Given the description of an element on the screen output the (x, y) to click on. 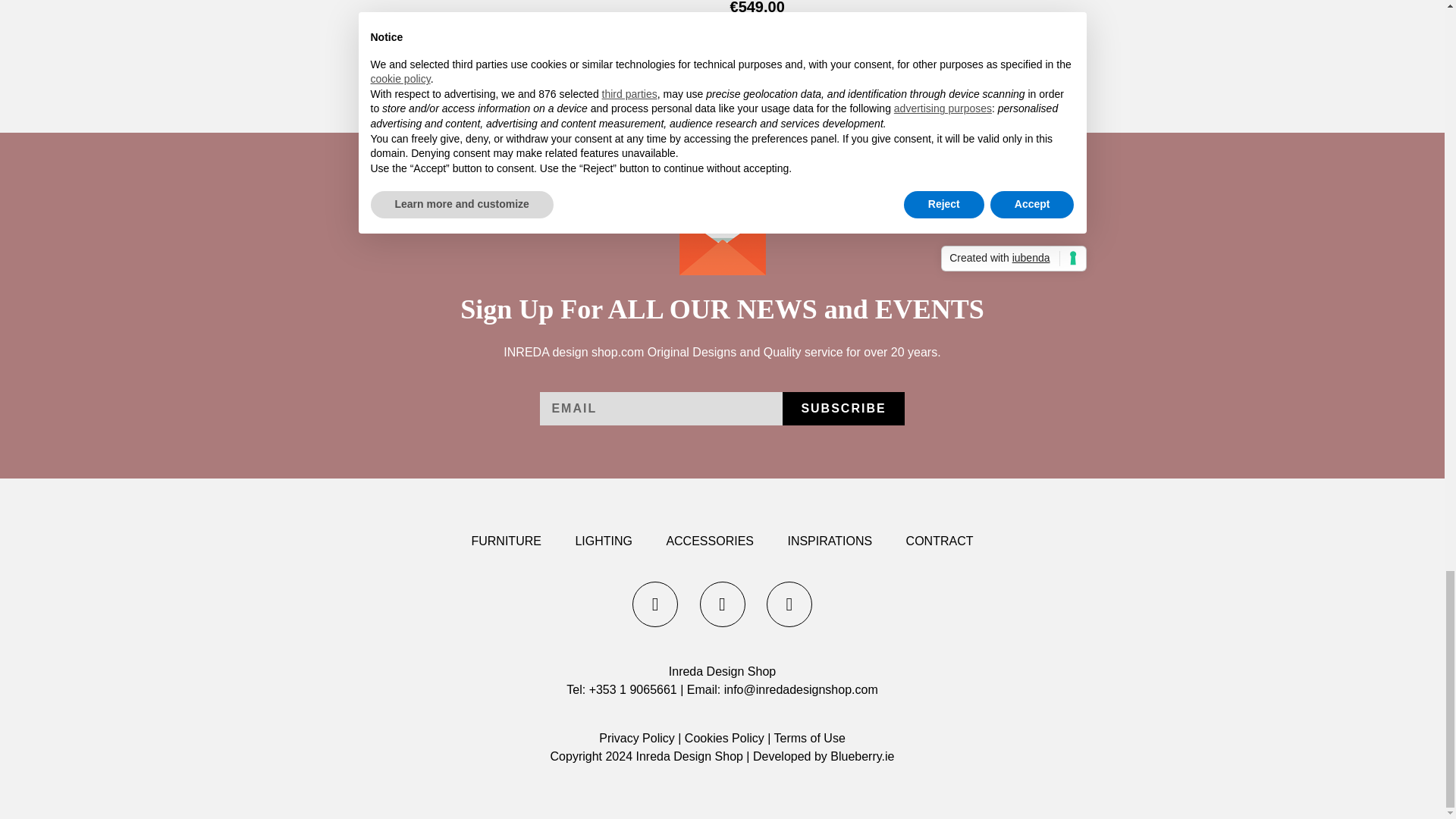
Subscribe (843, 408)
